Given the description of an element on the screen output the (x, y) to click on. 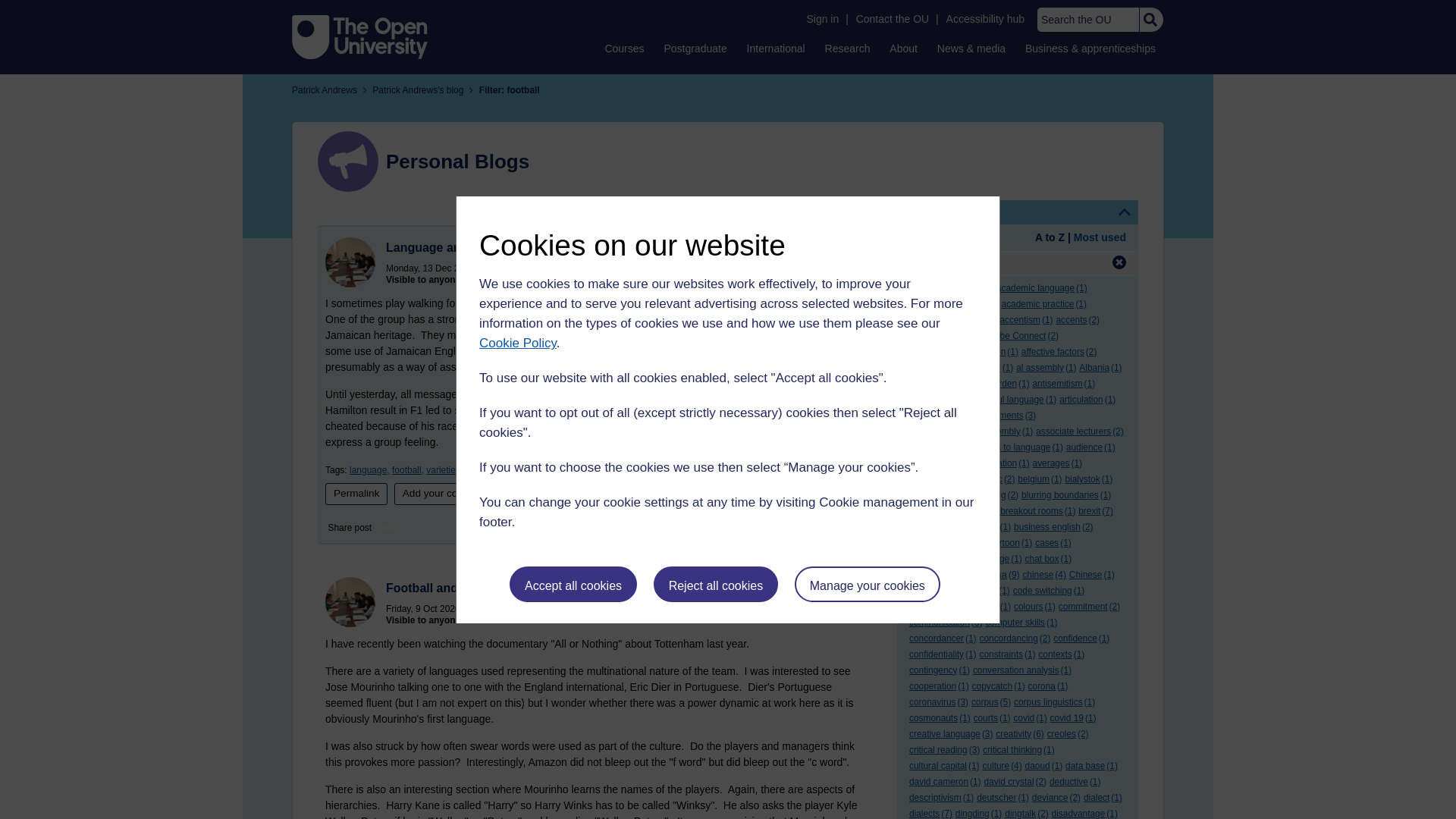
International (775, 48)
Help with Order: (951, 238)
Postgraduate (695, 48)
Manage your cookies (867, 583)
Cookie Policy (517, 342)
About (903, 48)
Click to remove filter tag (1118, 262)
Reject all cookies (715, 583)
Accessibility hub (985, 19)
Sign in (822, 19)
Research (847, 48)
Contact the OU (892, 19)
Accept all cookies (573, 583)
Search (1149, 19)
